Given the description of an element on the screen output the (x, y) to click on. 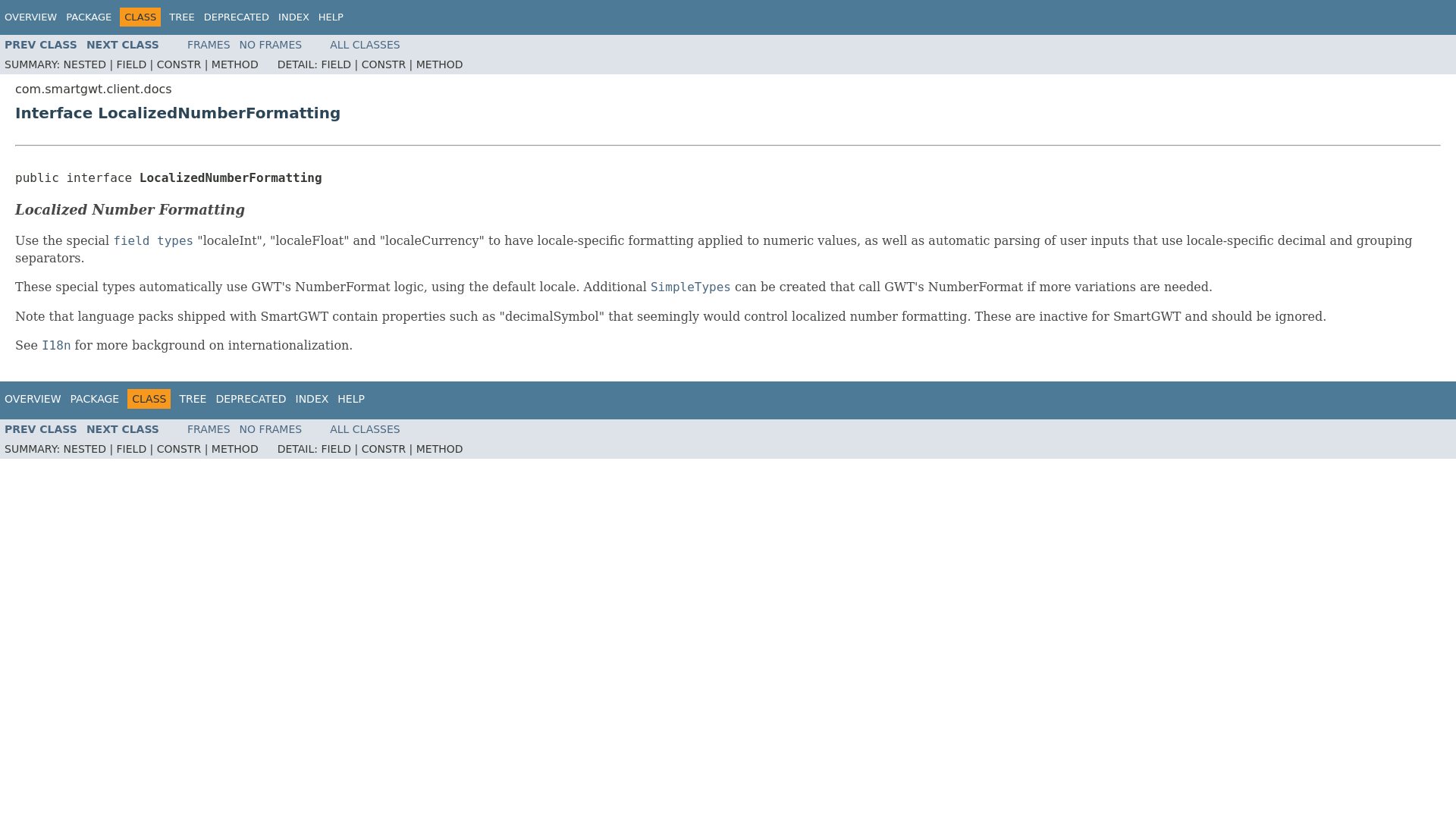
class in com.smartgwt.client.data (690, 287)
TREE (192, 398)
interface in com.smartgwt.client.docs (56, 345)
PACKAGE (88, 16)
interface in com.smartgwt.client.docs (40, 44)
HELP (330, 16)
DEPRECATED (250, 398)
OVERVIEW (30, 16)
interface in com.smartgwt.client.docs (40, 428)
I18n (56, 345)
